Given the description of an element on the screen output the (x, y) to click on. 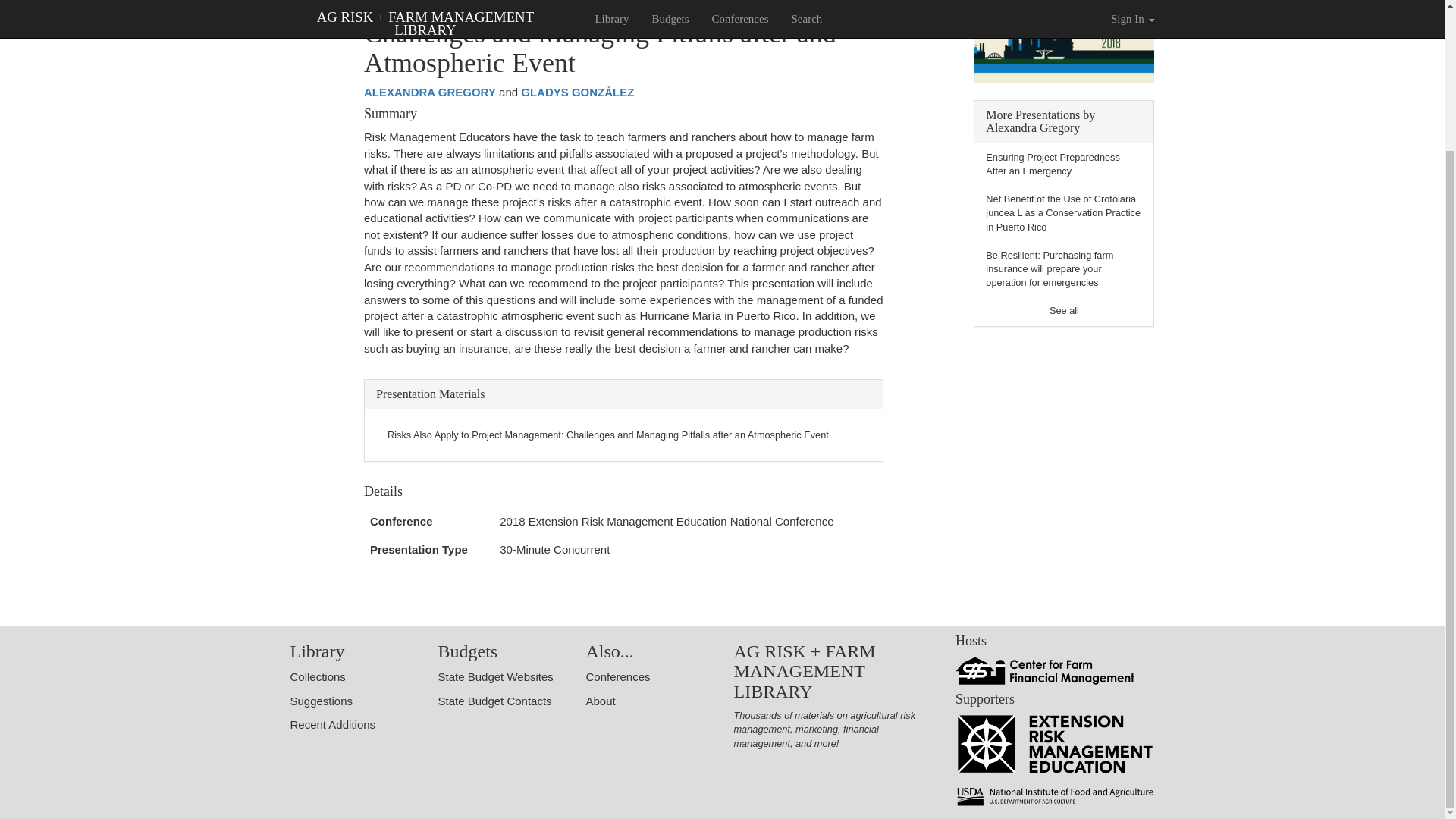
30-Minute Concurrent (554, 549)
State Budget Websites (495, 676)
About (599, 700)
2018 Extension Risk Management Education National Conference (665, 521)
Recent Additions (332, 724)
Conferences (617, 676)
State Budget Contacts (494, 700)
Tweet (304, 0)
Collections (317, 676)
See all (1063, 310)
